Given the description of an element on the screen output the (x, y) to click on. 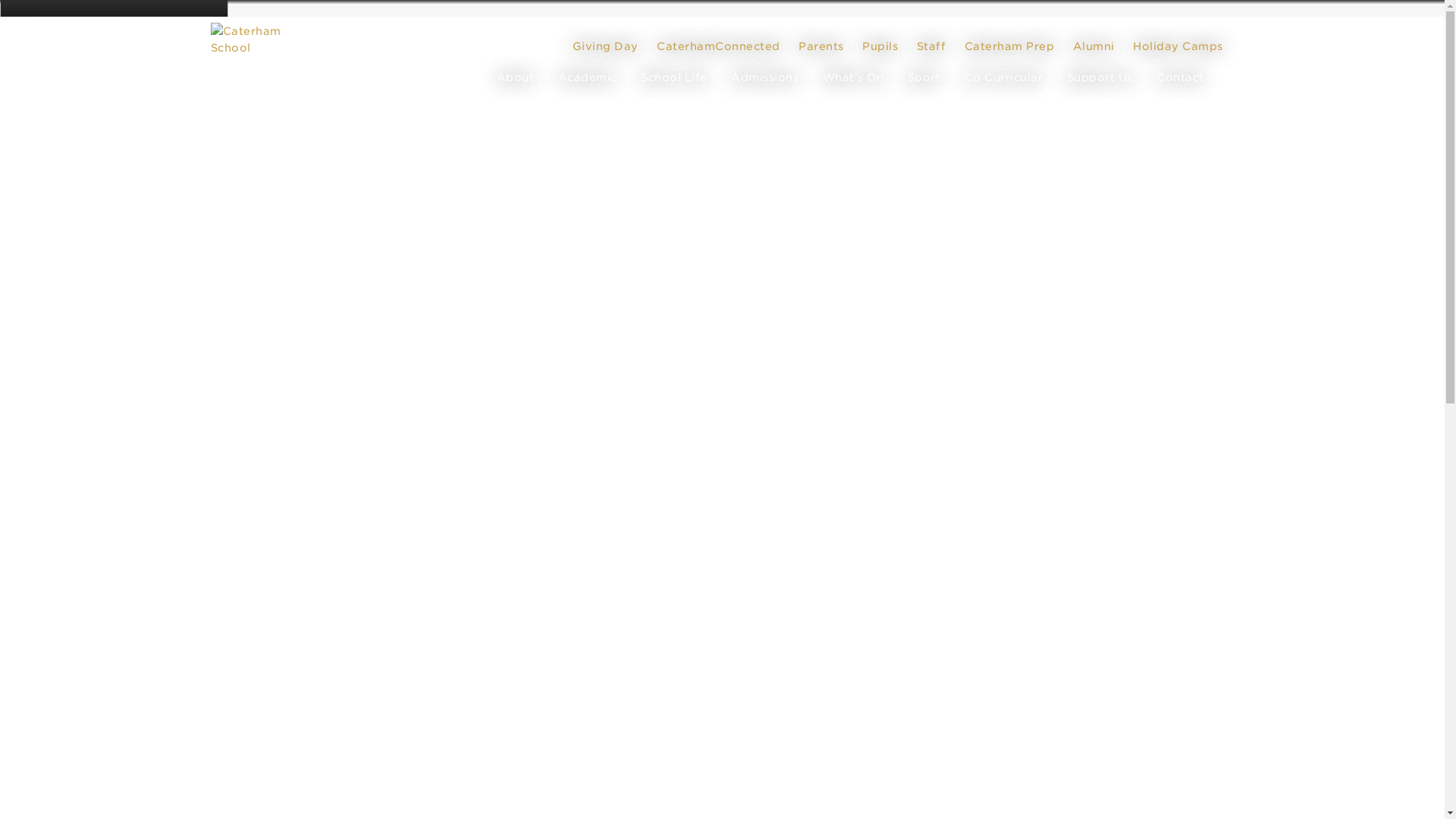
Co Curricular (1003, 77)
Sport (923, 77)
Contact (1180, 77)
Admissions (763, 77)
Giving Day (604, 46)
Staff (929, 46)
Parents (820, 46)
Pupils (879, 46)
Support Us (1099, 77)
School Life (673, 77)
